Given the description of an element on the screen output the (x, y) to click on. 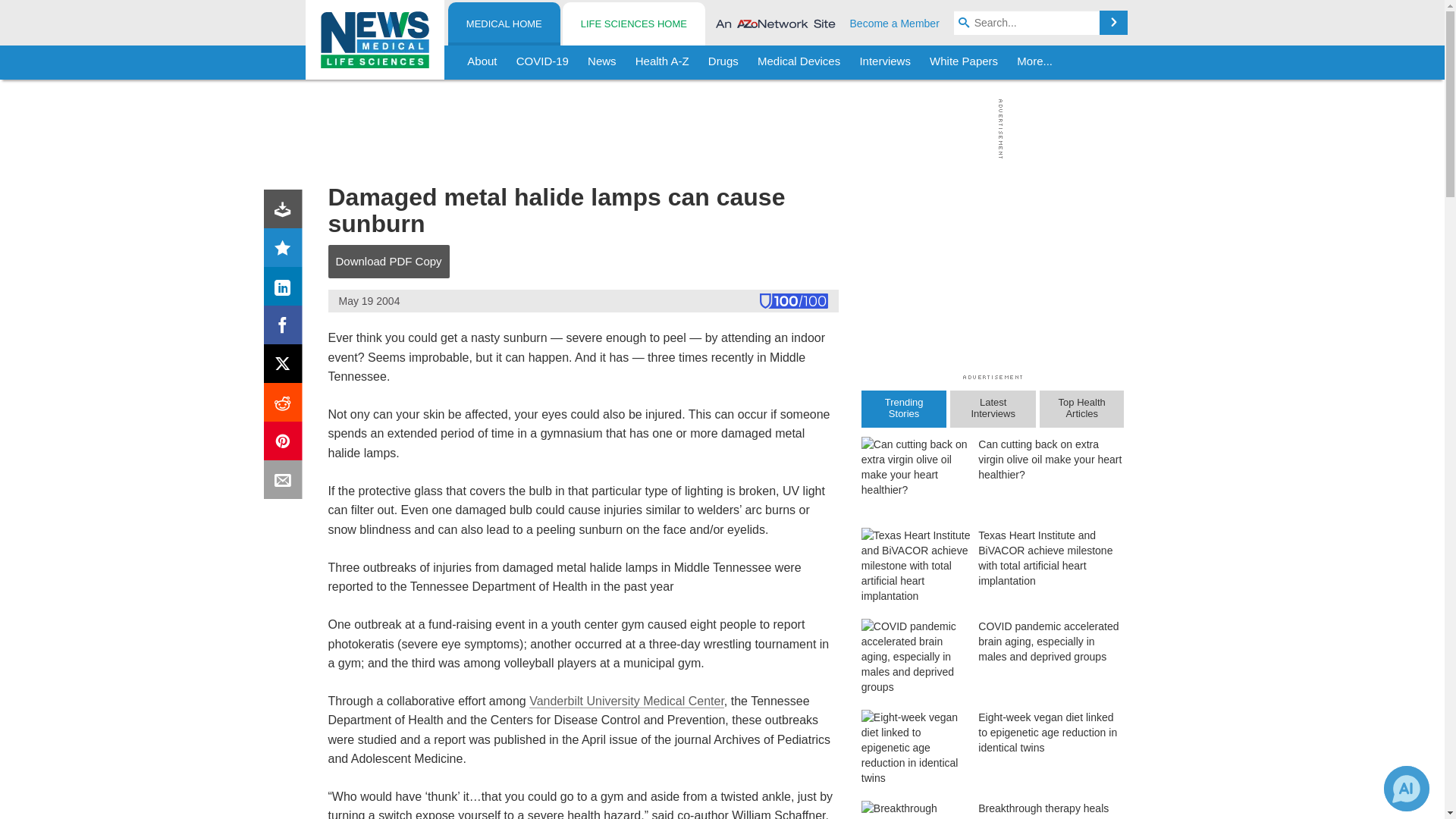
Download PDF copy (285, 212)
Pinterest (285, 443)
MEDICAL HOME (504, 23)
LinkedIn (285, 289)
Reddit (285, 405)
COVID-19 (542, 62)
Medical Devices (798, 62)
White Papers (963, 62)
Facebook (285, 328)
Search (1112, 22)
About (482, 62)
Rating (285, 250)
Interviews (884, 62)
Health A-Z (662, 62)
